Given the description of an element on the screen output the (x, y) to click on. 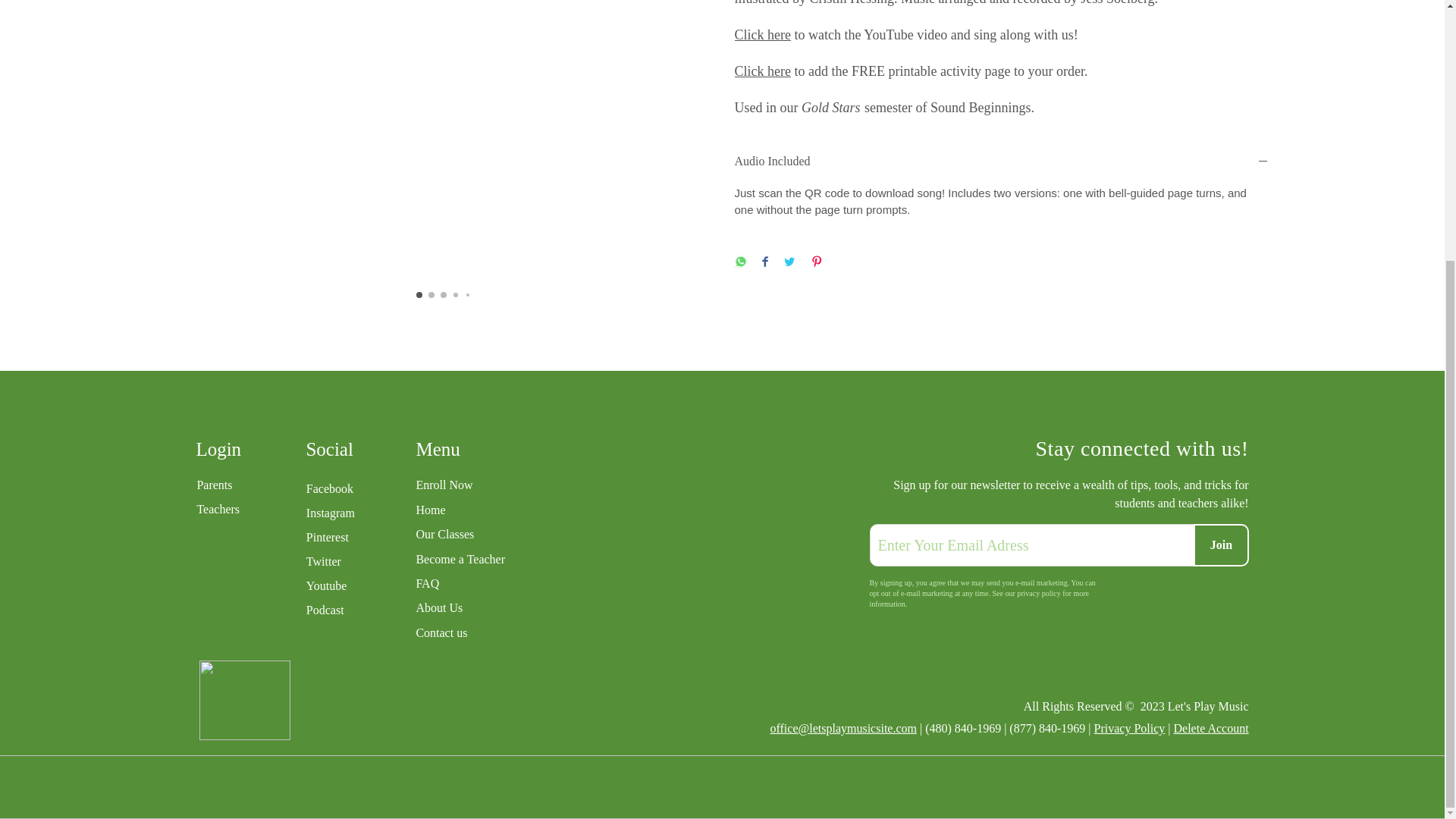
Join (1220, 545)
Parents (213, 484)
Twitter (322, 561)
Become a Teacher (490, 559)
Contact us (490, 632)
Privacy Policy (1130, 727)
Pinterest (327, 536)
Home (490, 509)
